Given the description of an element on the screen output the (x, y) to click on. 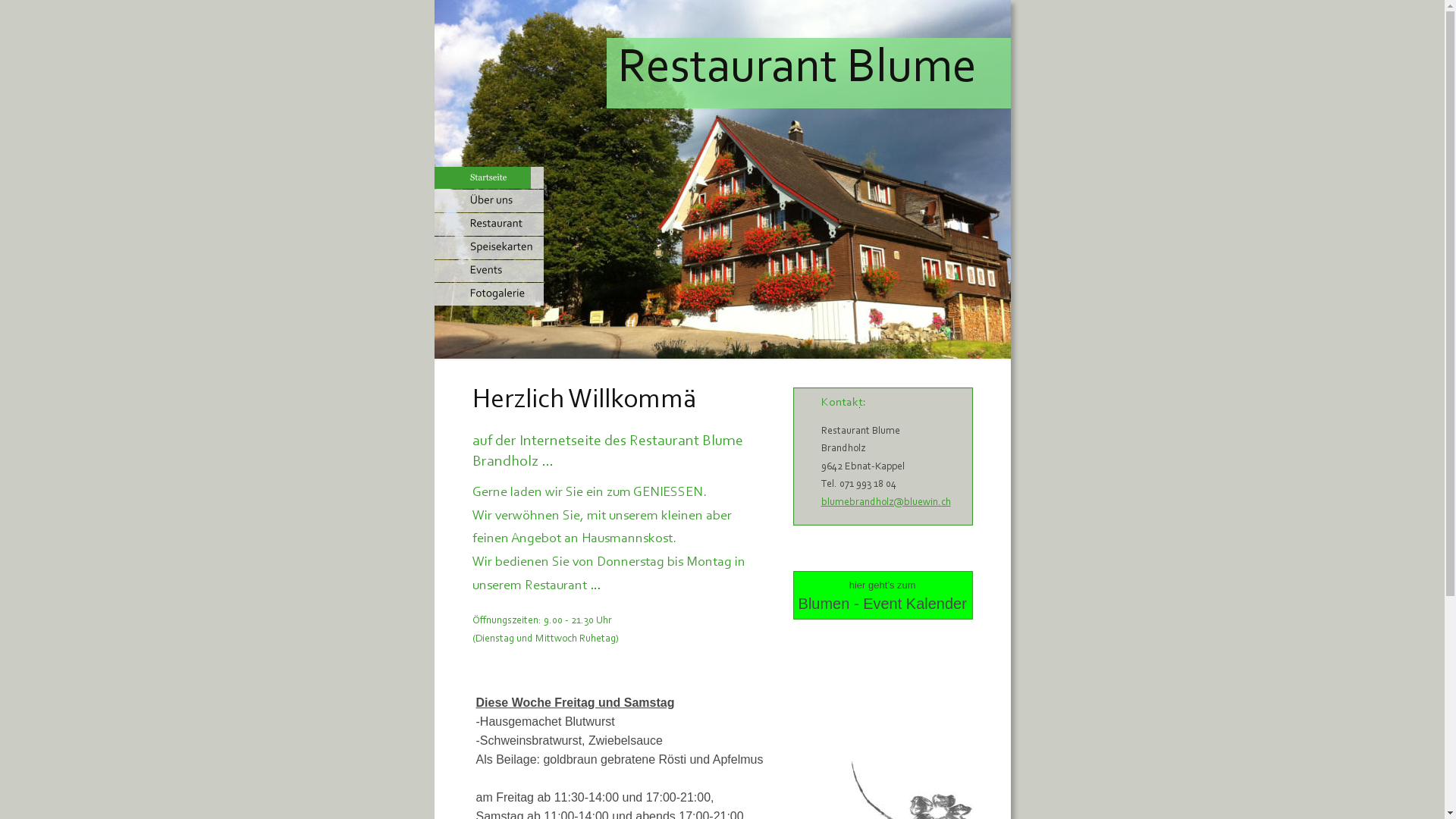
blumebrandholz@bluewin.ch Element type: text (885, 502)
